Given the description of an element on the screen output the (x, y) to click on. 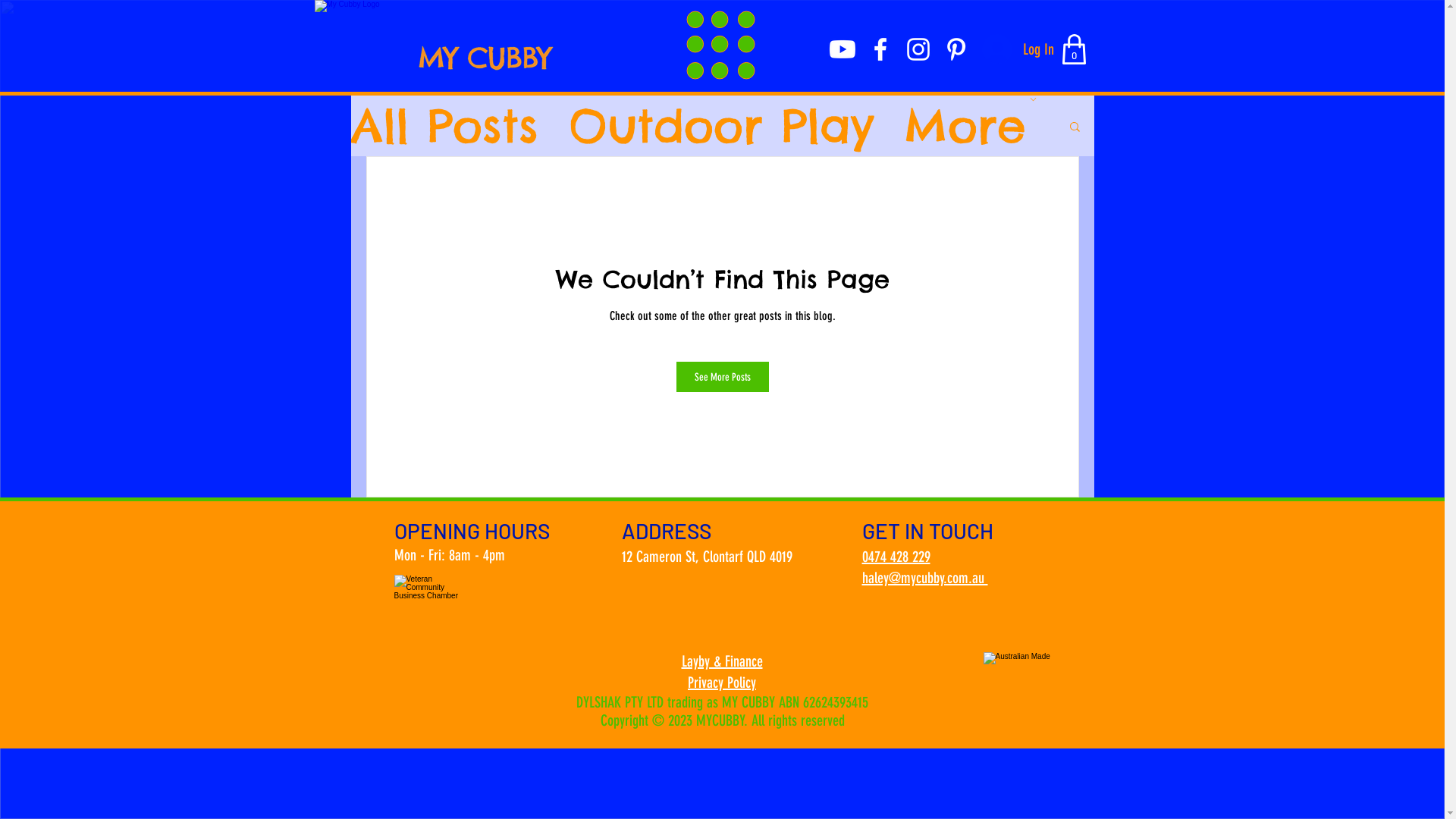
0474 428 229 Element type: text (895, 556)
Privacy Policy Element type: text (721, 682)
Outdoor Play Element type: text (720, 125)
Log In Element type: text (1015, 49)
haley@mycubby.com.au  Element type: text (924, 577)
Layby & Finance Element type: text (721, 661)
All Posts Element type: text (443, 125)
See More Posts Element type: text (722, 376)
